Given the description of an element on the screen output the (x, y) to click on. 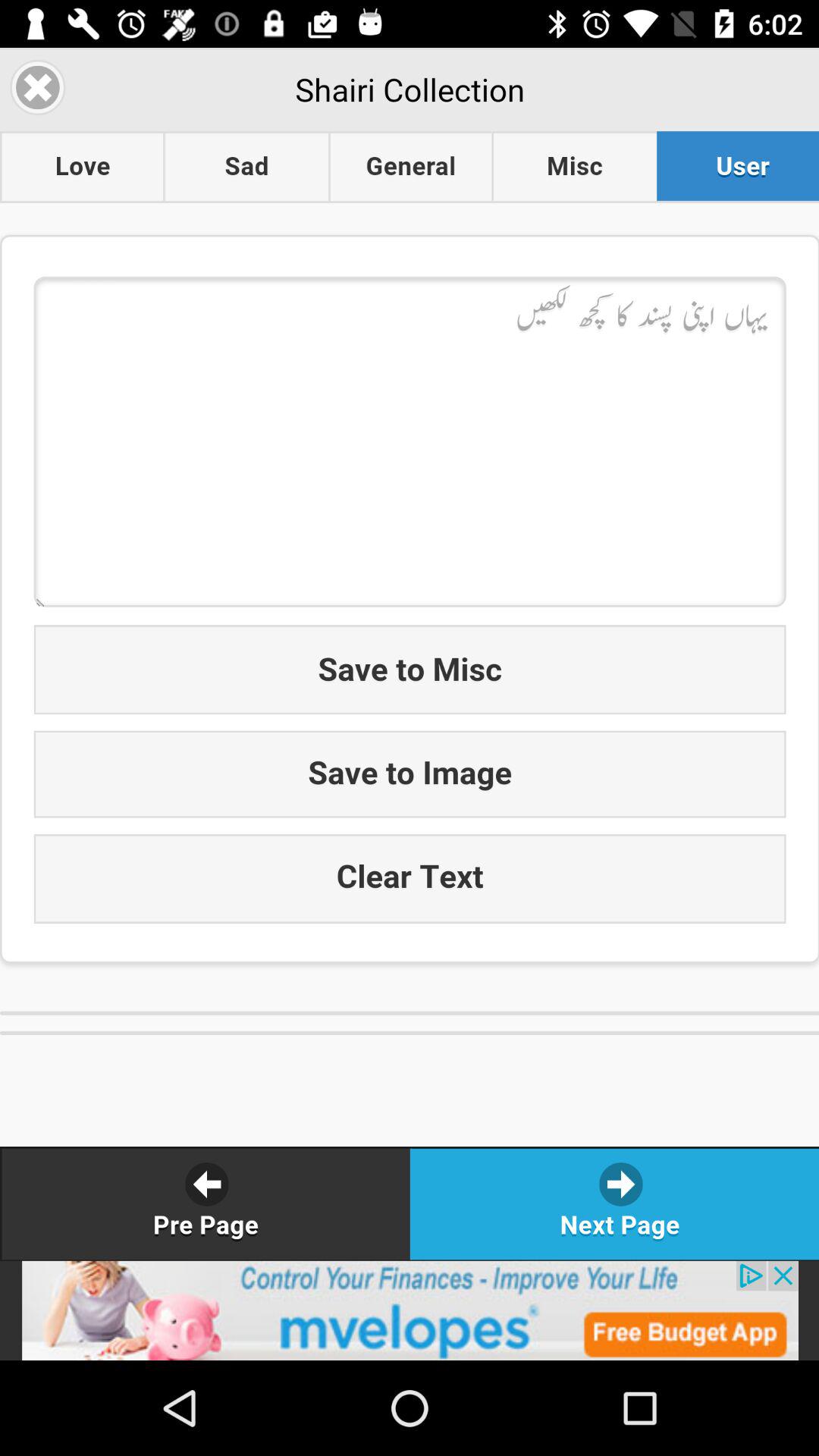
advertisement at bottom (409, 1310)
